Given the description of an element on the screen output the (x, y) to click on. 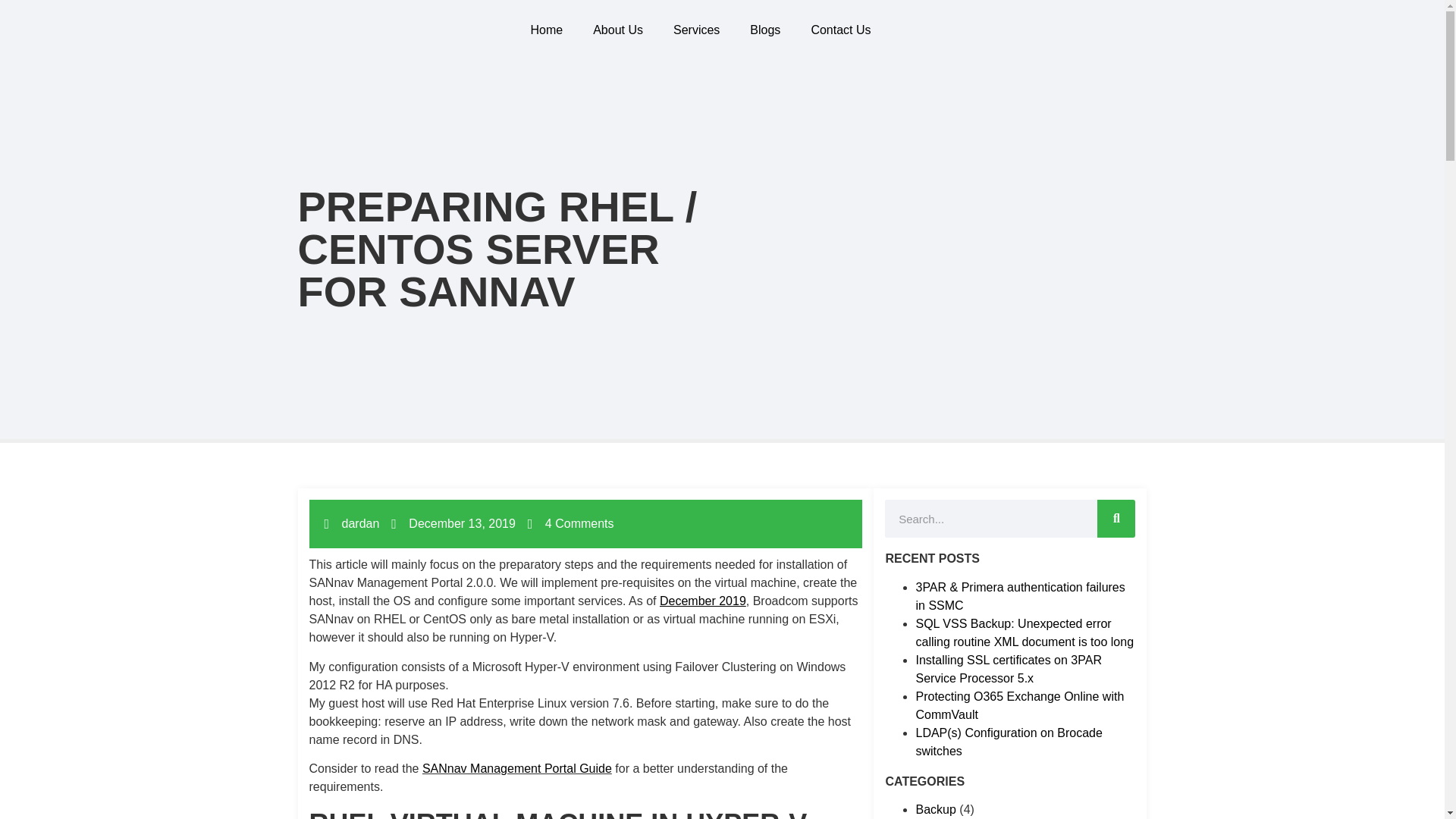
Search (1116, 518)
Search (991, 518)
Blogs (764, 30)
Services (696, 30)
SANnav Management Portal Guide (516, 768)
dardan (352, 524)
About Us (618, 30)
December 13, 2019 (453, 524)
Home (546, 30)
Contact Us (839, 30)
